Given the description of an element on the screen output the (x, y) to click on. 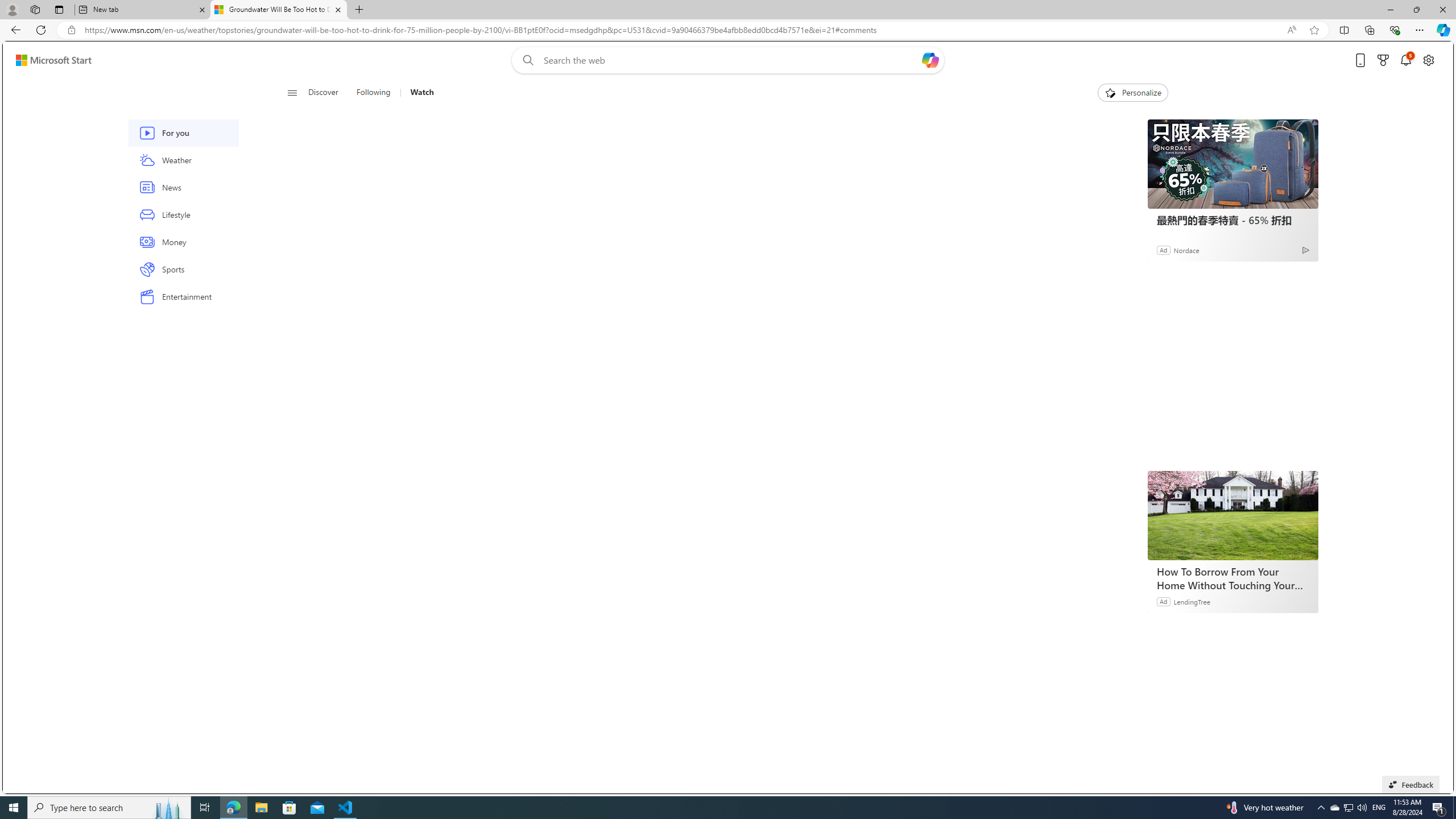
How To Borrow From Your Home Without Touching Your Mortgage (1232, 515)
Open navigation menu (292, 92)
Open settings (1427, 60)
Personalize (1132, 92)
